Given the description of an element on the screen output the (x, y) to click on. 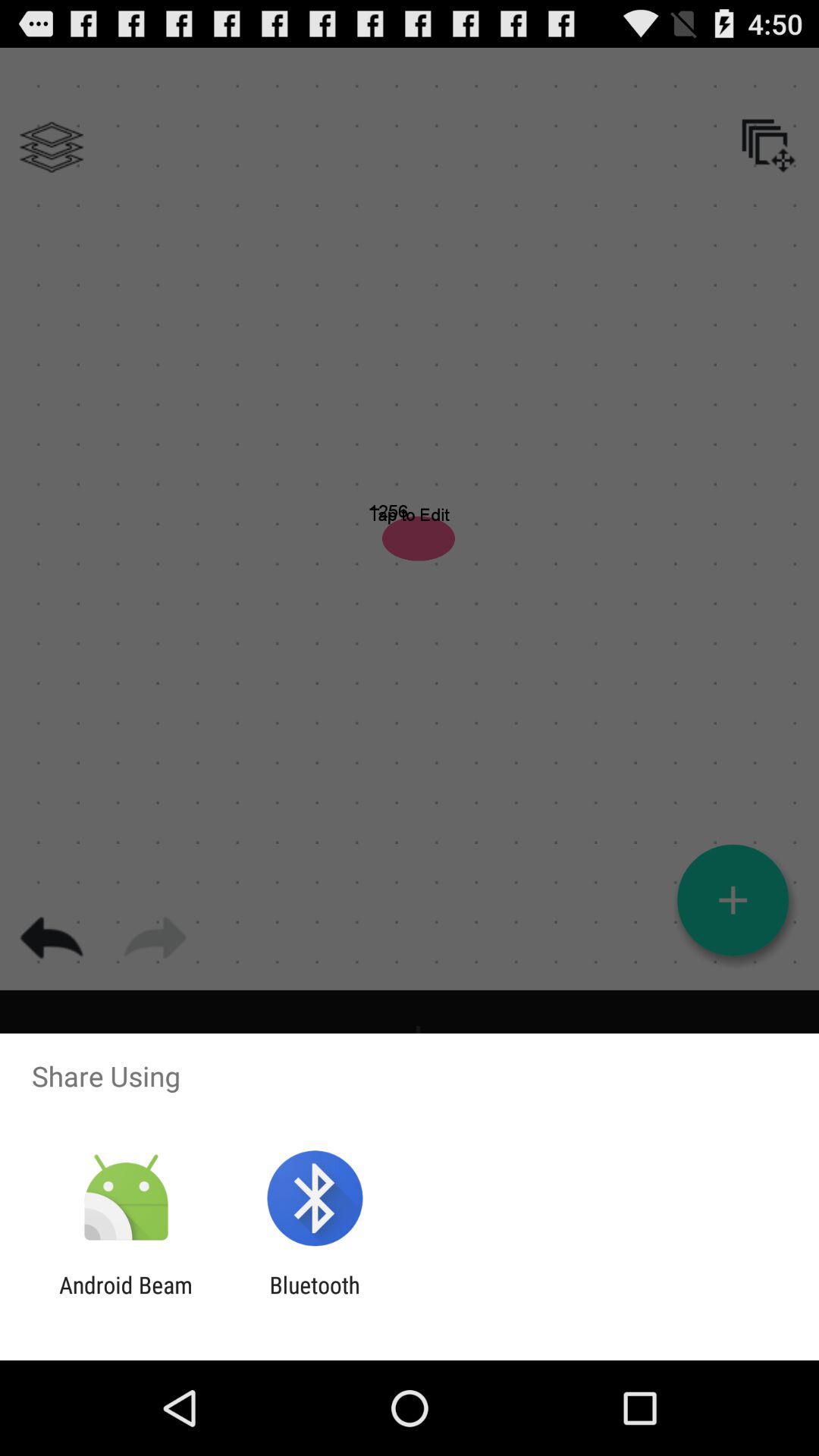
turn on icon to the right of the android beam (314, 1298)
